Given the description of an element on the screen output the (x, y) to click on. 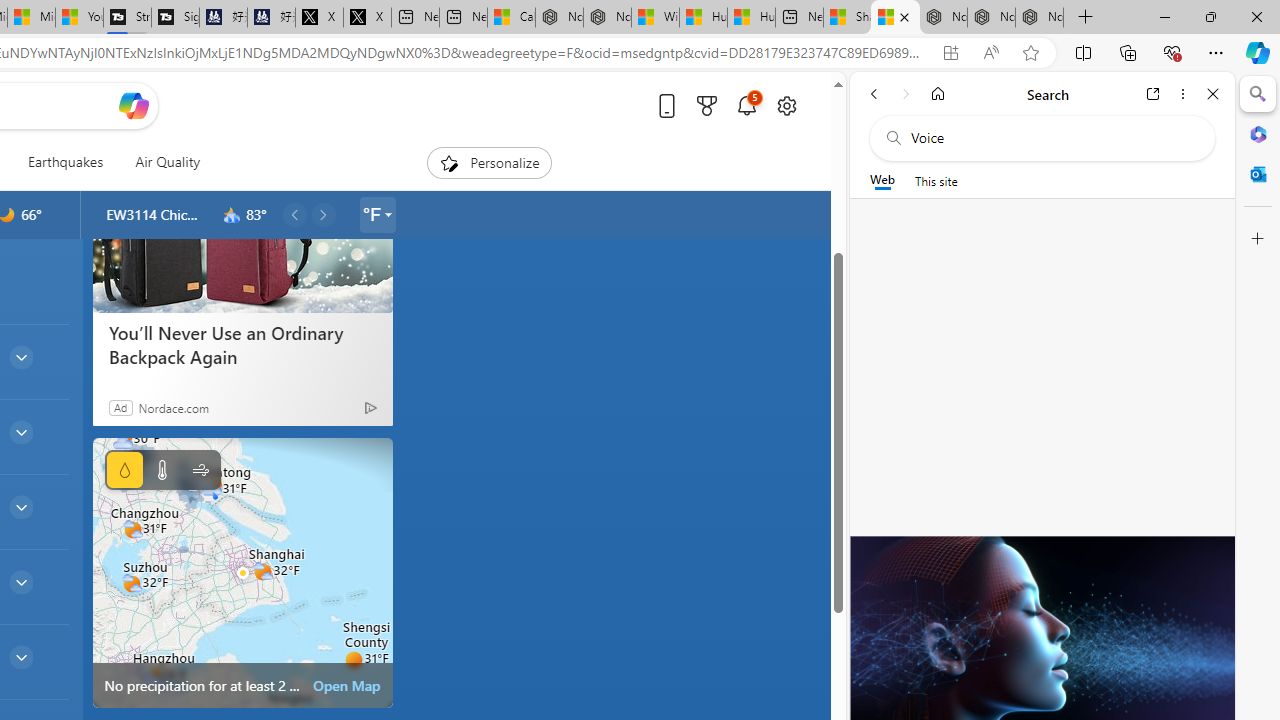
Class: miniMapRadarSVGView-DS-EntryPoint1-1 (242, 572)
common/thinArrow (20, 656)
Open link in new tab (1153, 93)
Nordace Siena Pro 15 Backpack (991, 17)
Nordace.com (173, 407)
Forward (906, 93)
This site scope (936, 180)
